Given the description of an element on the screen output the (x, y) to click on. 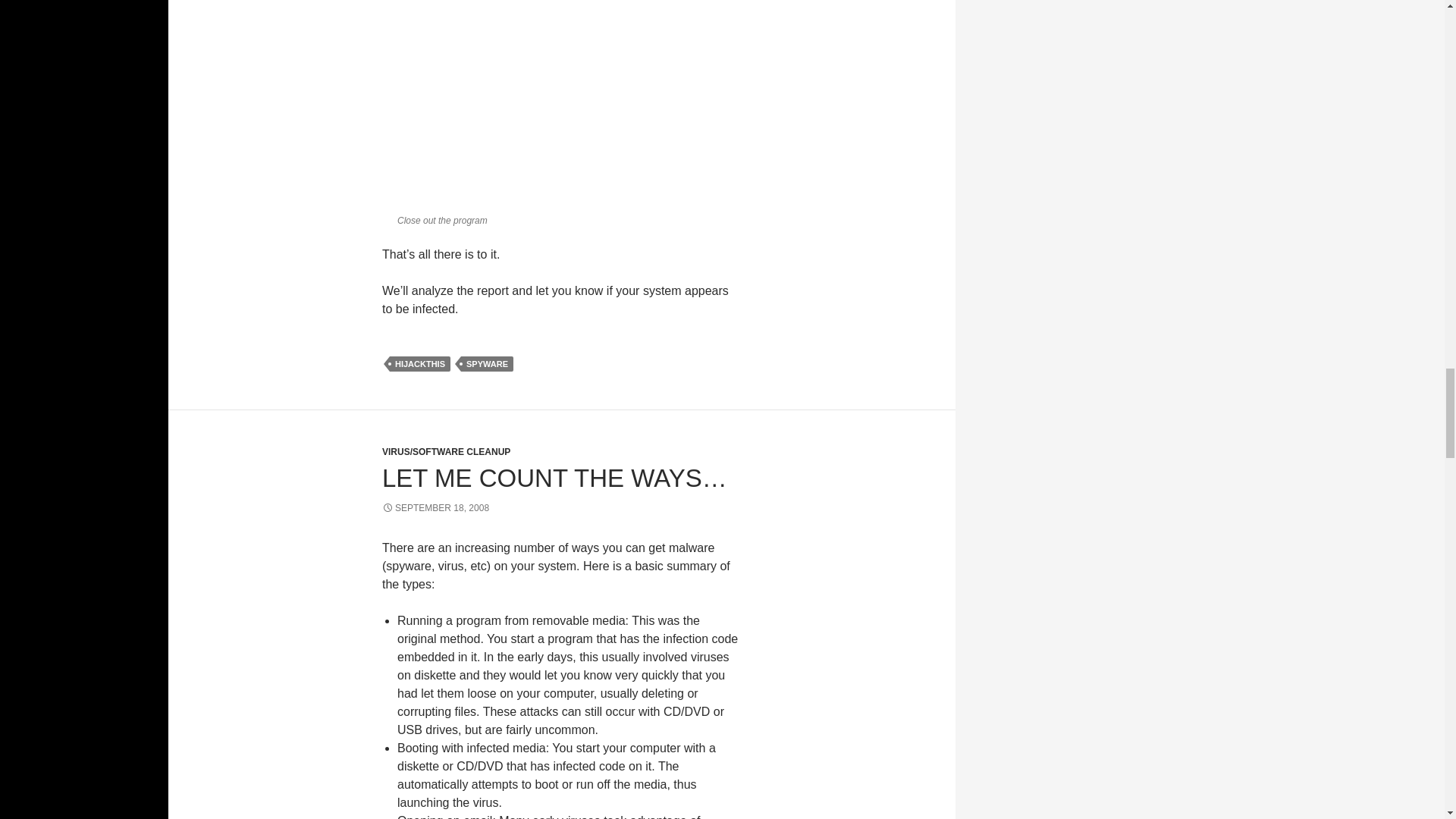
SPYWARE (487, 363)
HijackThis Step 2 (569, 103)
SEPTEMBER 18, 2008 (435, 507)
HIJACKTHIS (419, 363)
